Given the description of an element on the screen output the (x, y) to click on. 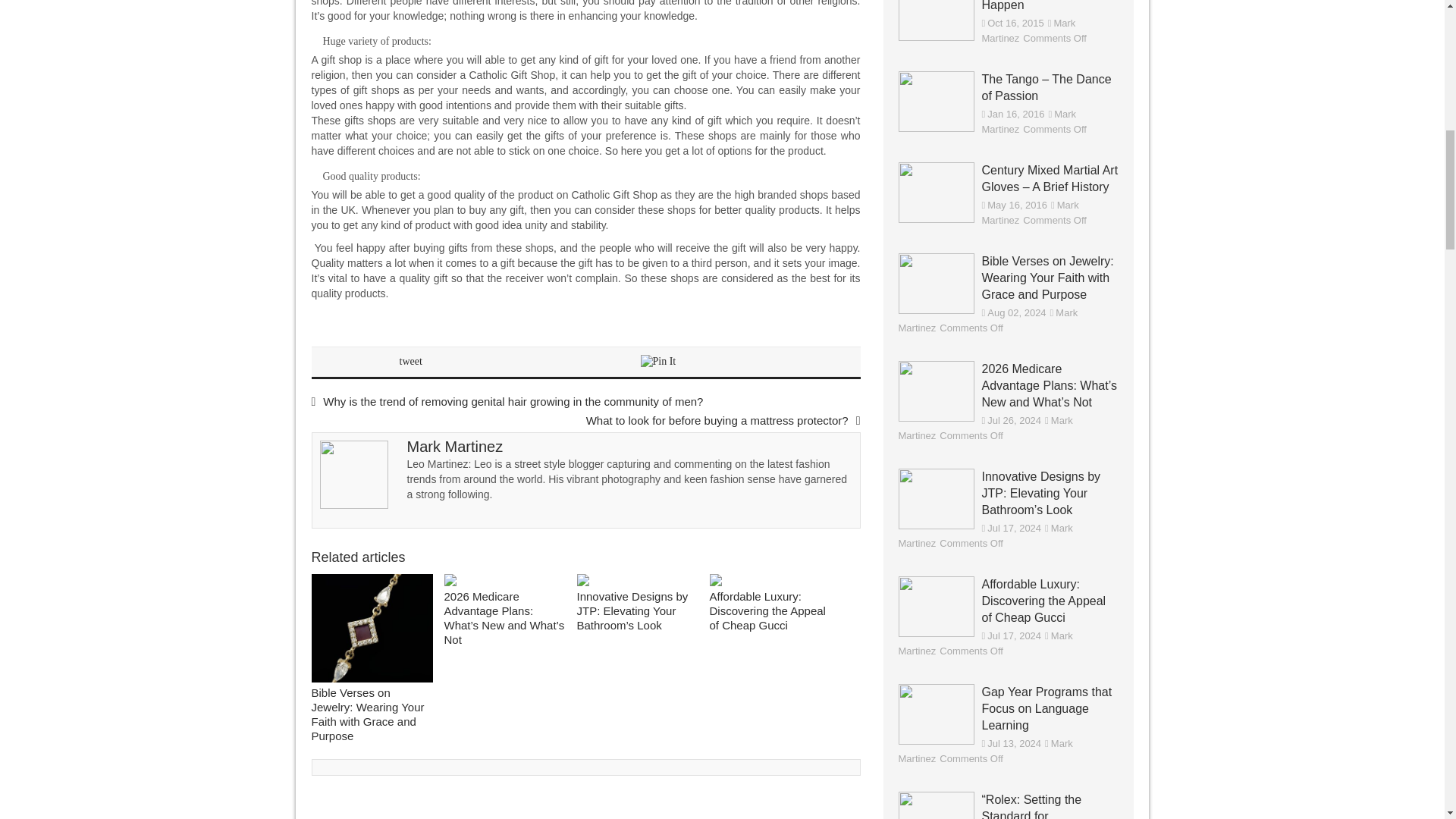
Mark Martinez (454, 446)
Affordable Luxury: Discovering the Appeal of Cheap Gucci (770, 581)
tweet (410, 360)
Pin It (657, 361)
What to look for before buying a mattress protector? (723, 420)
